Given the description of an element on the screen output the (x, y) to click on. 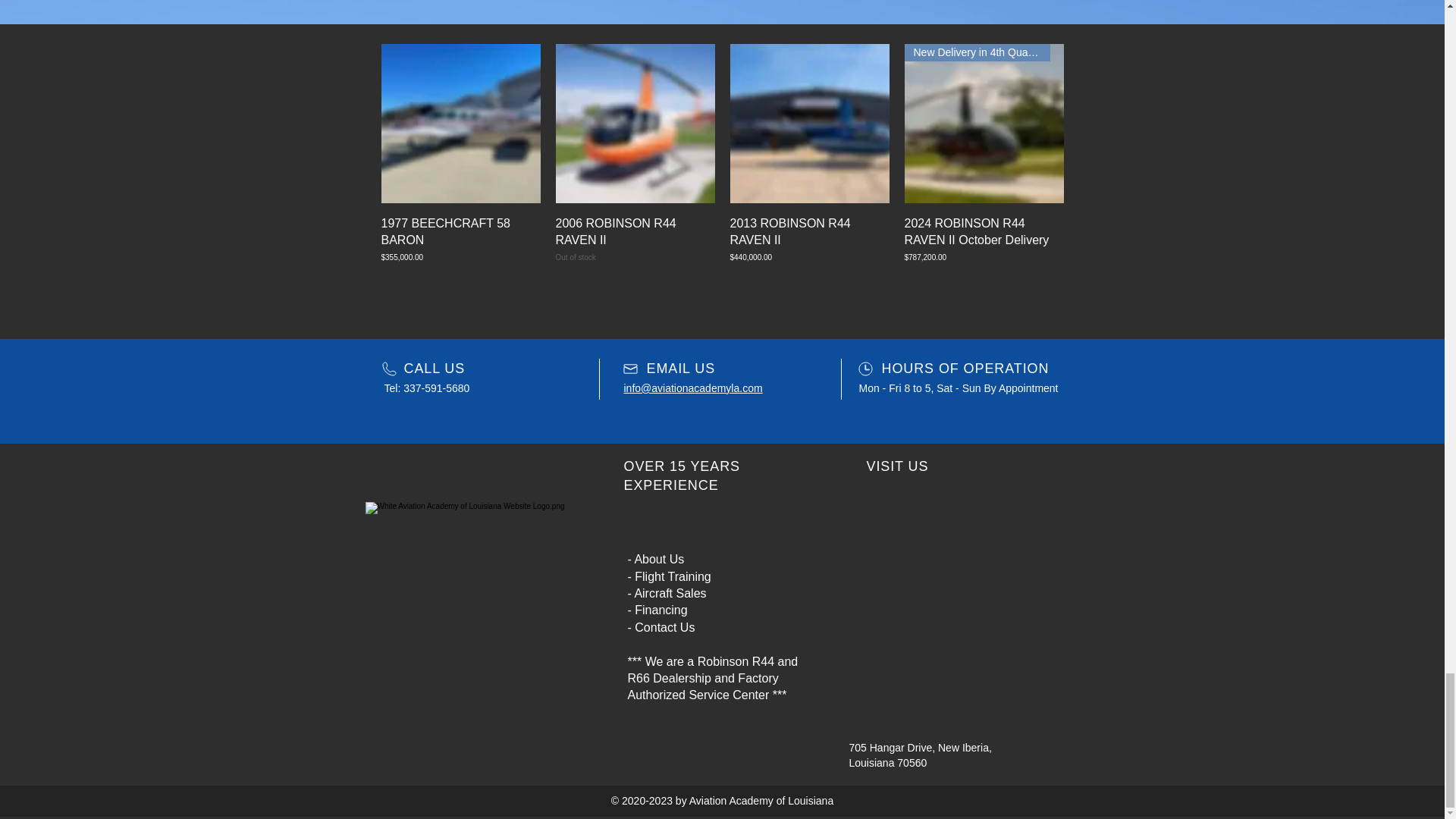
Aviation Academy Plain LogoWHT.png (475, 575)
